Given the description of an element on the screen output the (x, y) to click on. 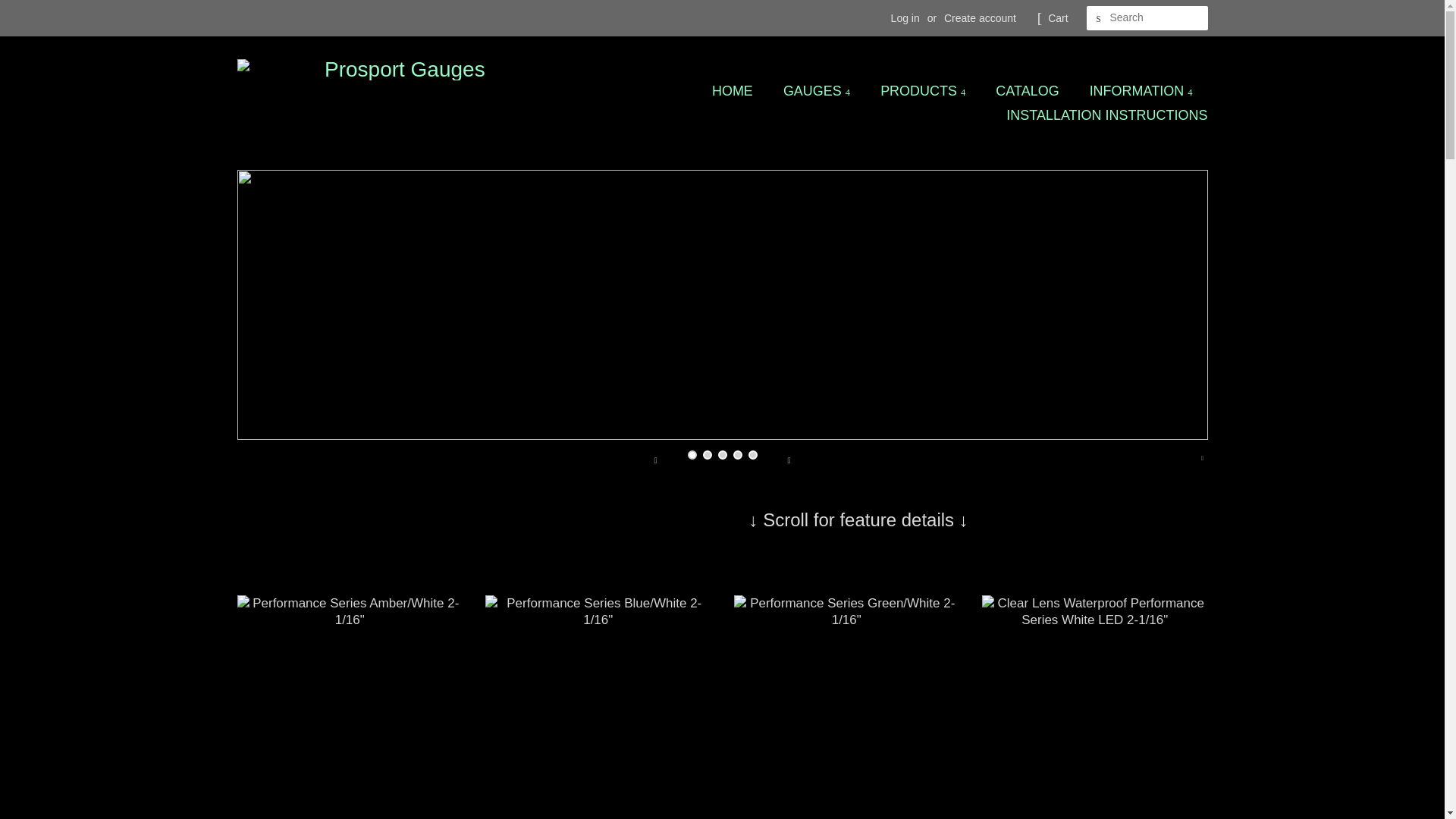
Create account (979, 18)
Cart (1057, 18)
Log in (905, 18)
SEARCH (1097, 18)
